Given the description of an element on the screen output the (x, y) to click on. 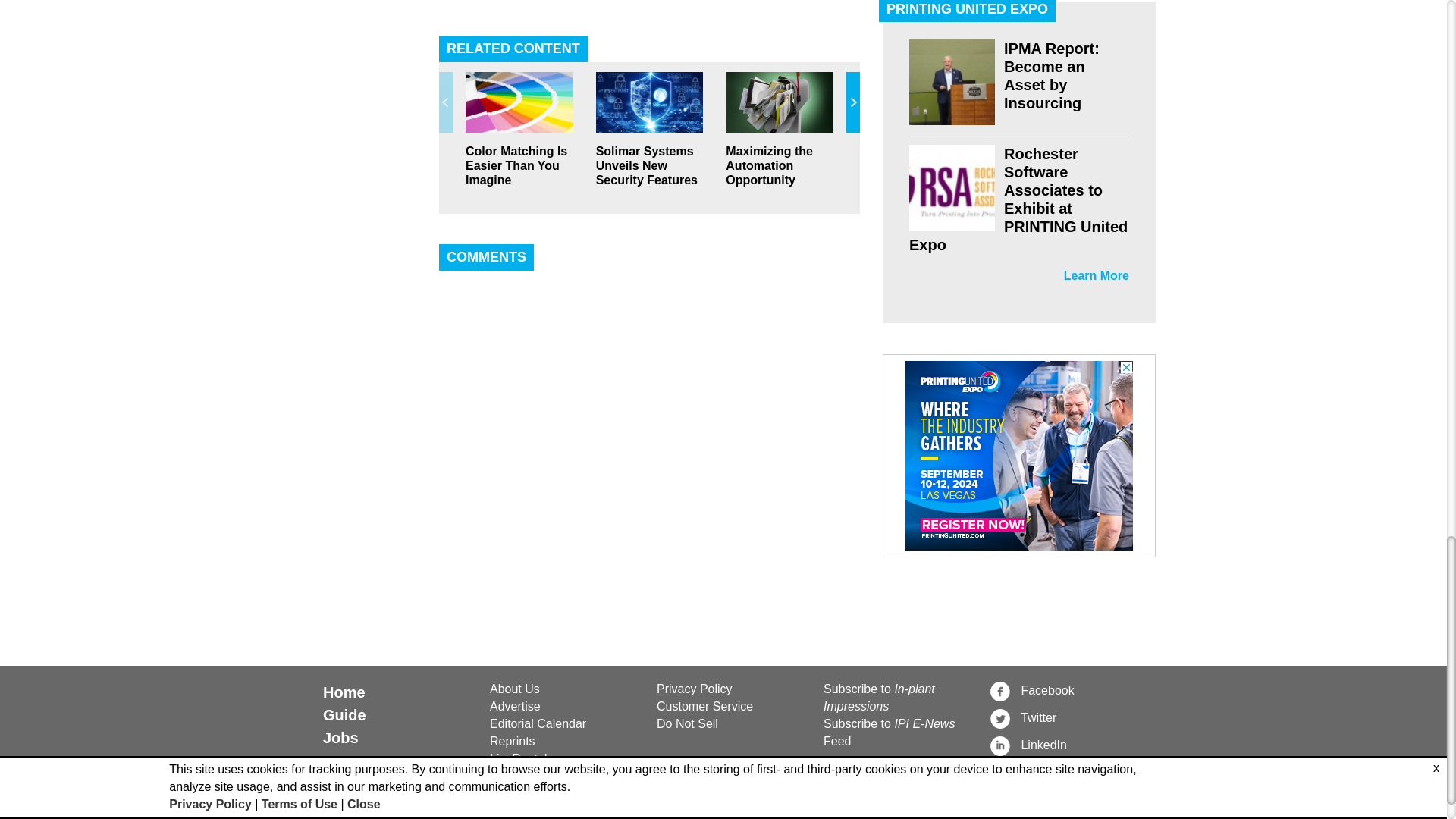
3rd party ad content (1018, 455)
